Given the description of an element on the screen output the (x, y) to click on. 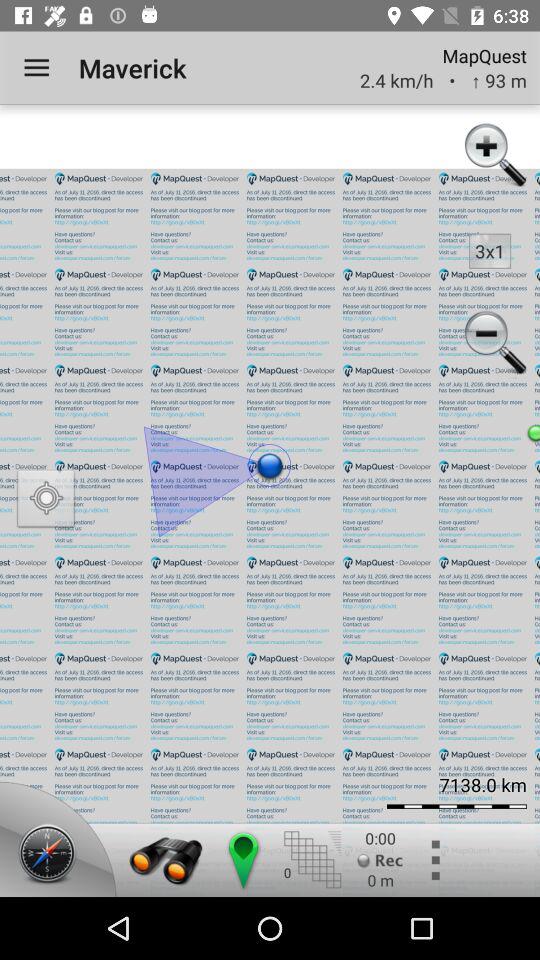
go to menu (434, 860)
